Given the description of an element on the screen output the (x, y) to click on. 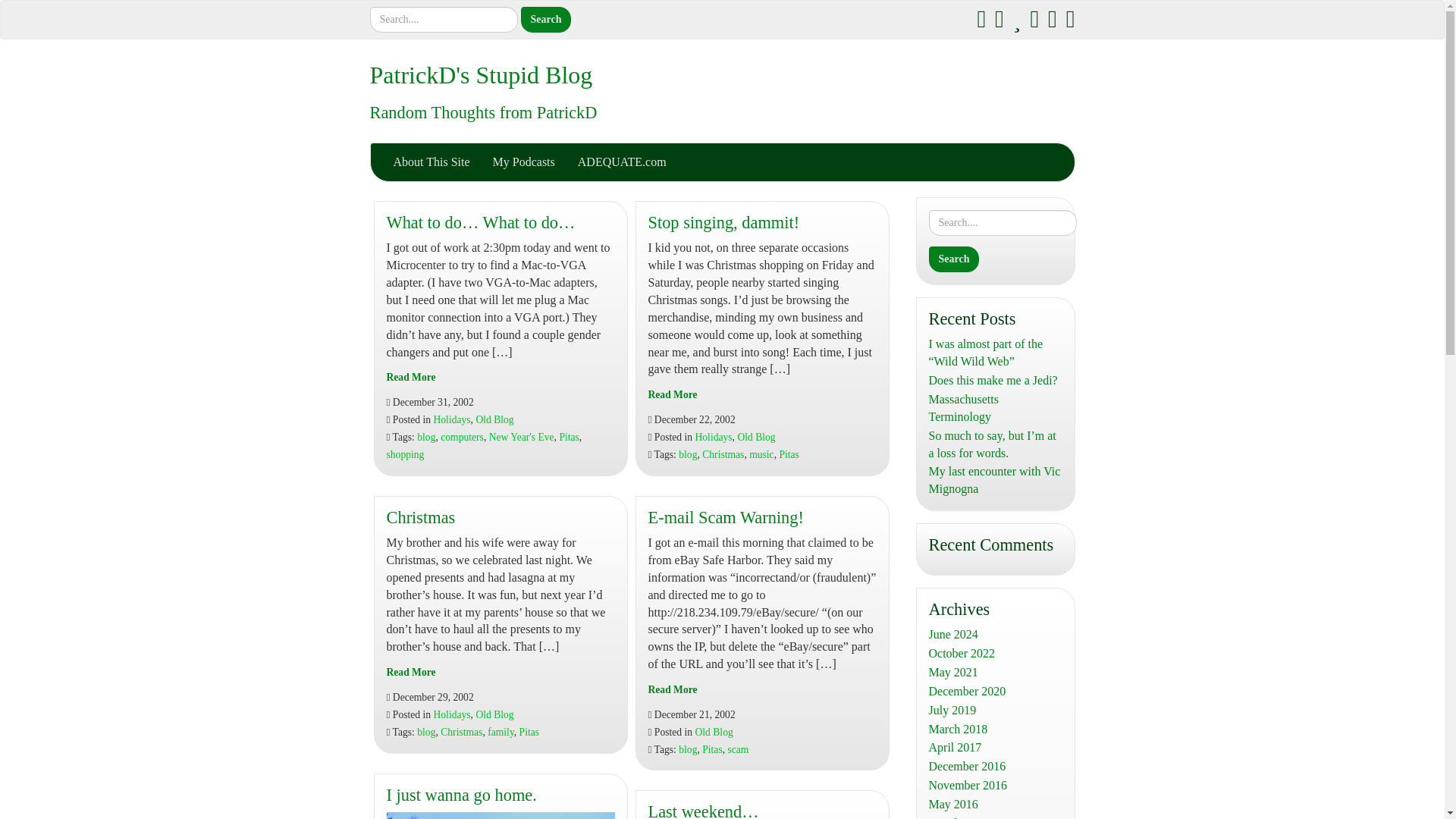
ADEQUATE.com (622, 161)
Read More (411, 377)
PatrickD's Stupid Blog (480, 74)
Pitas (568, 437)
Read More (411, 672)
ADEQUATE.com (622, 161)
About This Site (431, 161)
Christmas (421, 517)
Christmas (461, 731)
Christmas (411, 672)
Random Thoughts from PatrickD (482, 112)
shopping (406, 454)
Holidays (451, 714)
I just wanna go home. (462, 794)
Christmas (421, 517)
